Given the description of an element on the screen output the (x, y) to click on. 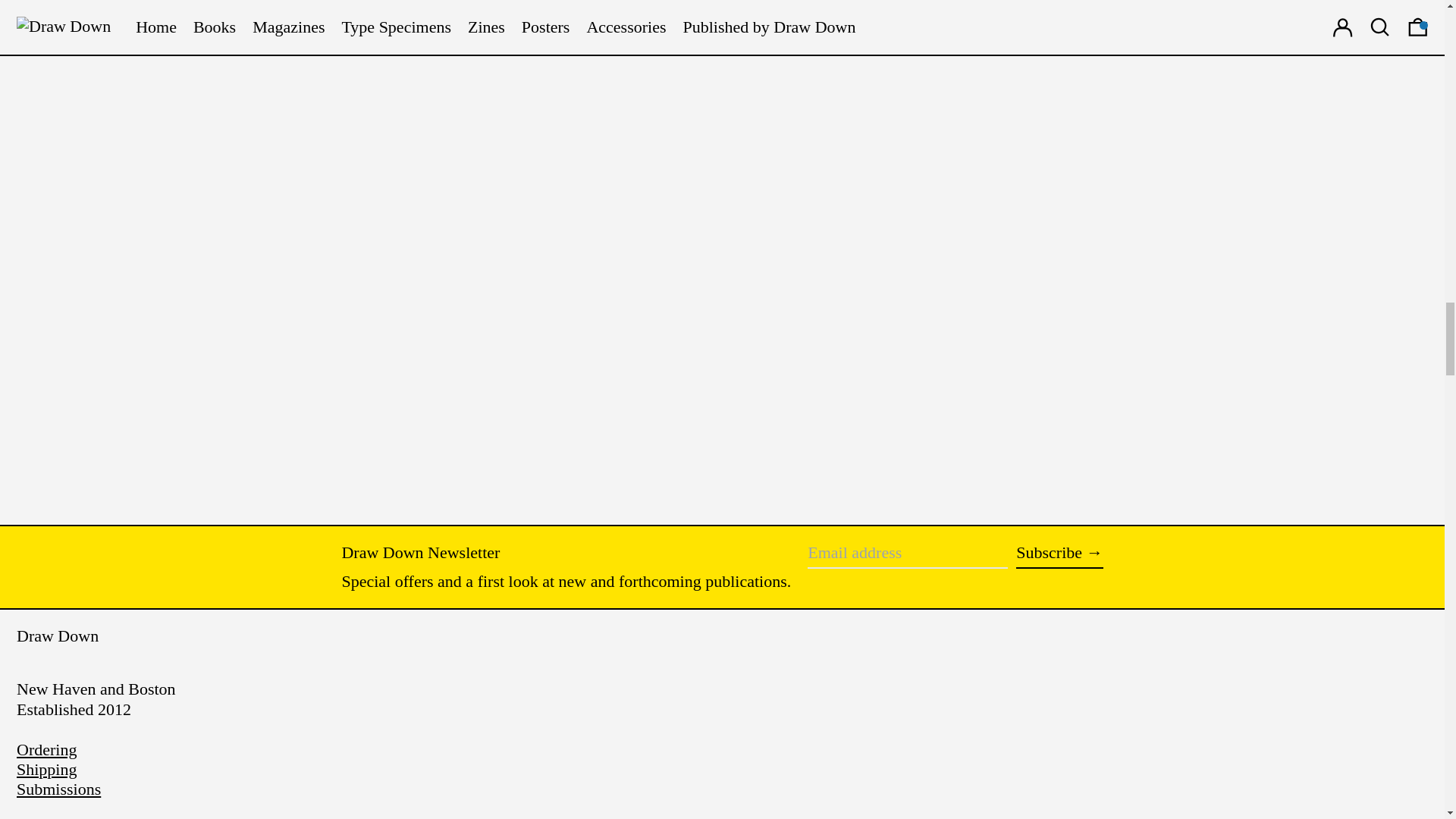
Submissions (58, 788)
Orders (46, 749)
Shipping (46, 769)
